Given the description of an element on the screen output the (x, y) to click on. 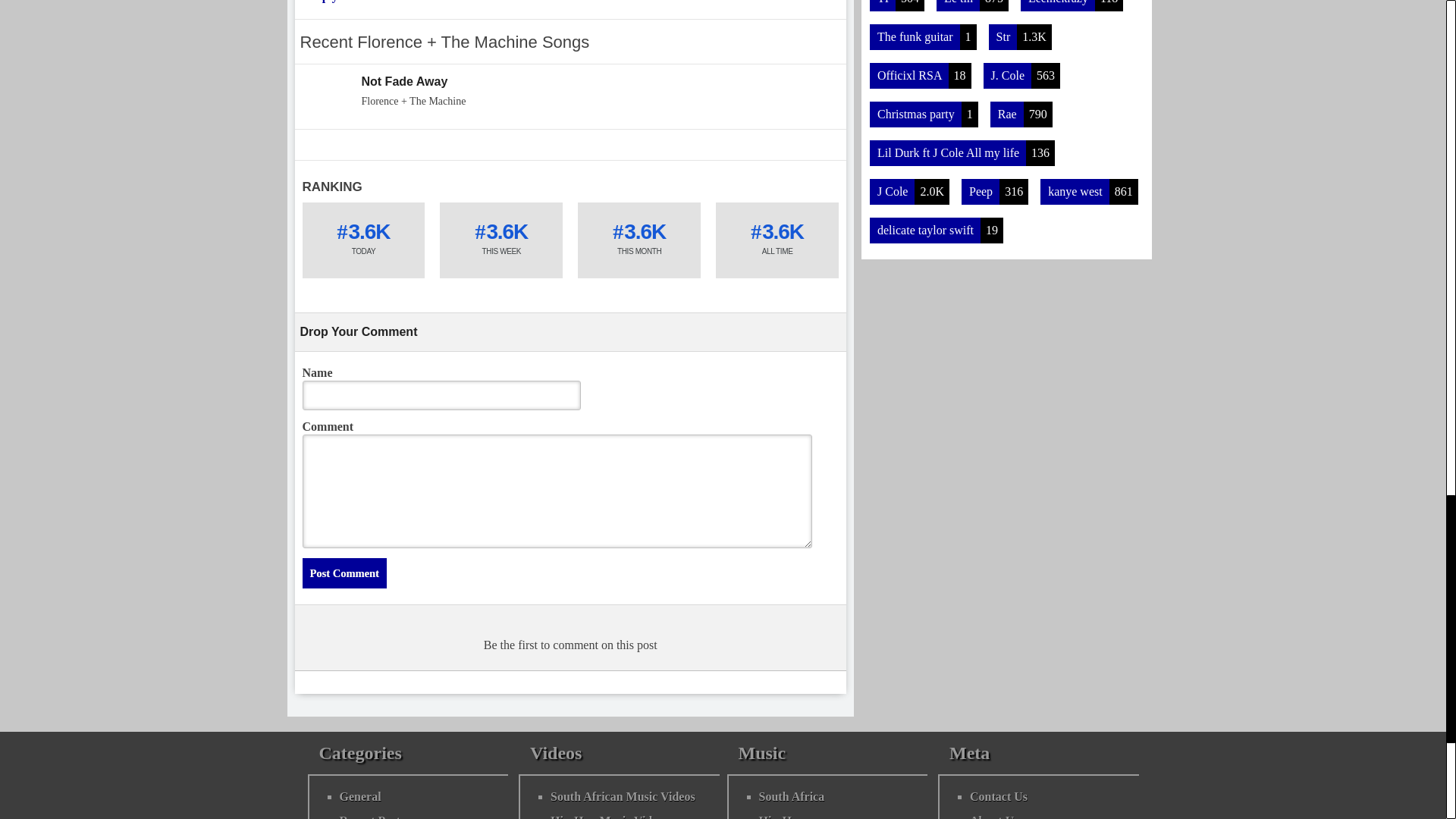
Post Comment (343, 572)
Drop your comments (355, 1)
Post Comment (343, 572)
